Given the description of an element on the screen output the (x, y) to click on. 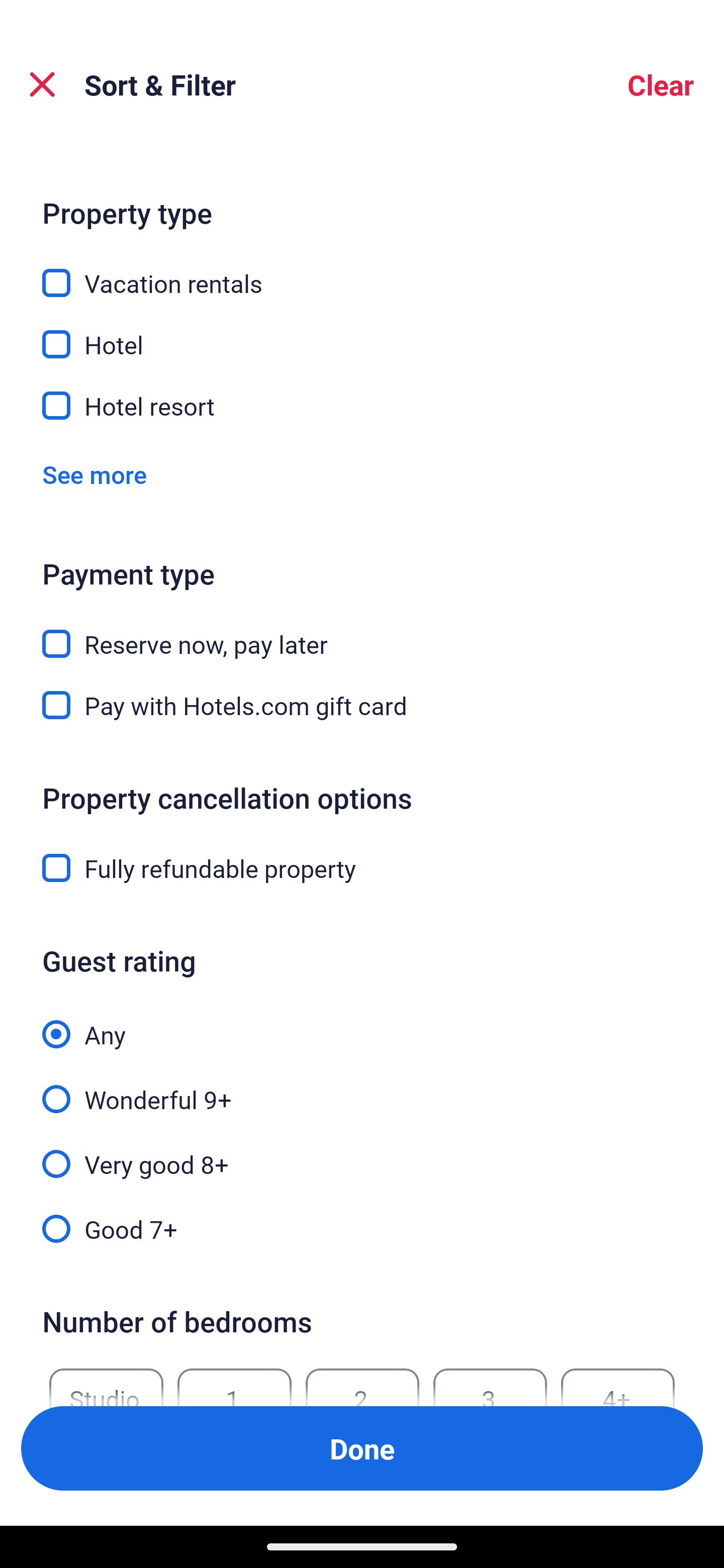
Close Sort and Filter (42, 84)
Clear (660, 84)
Vacation rentals, Vacation rentals (361, 271)
Hotel, Hotel (361, 332)
Hotel resort, Hotel resort (361, 405)
See more See more property types Link (93, 473)
Reserve now, pay later, Reserve now, pay later (361, 632)
Wonderful 9+ (361, 1088)
Very good 8+ (361, 1153)
Good 7+ (361, 1227)
Apply and close Sort and Filter Done (361, 1448)
